Given the description of an element on the screen output the (x, y) to click on. 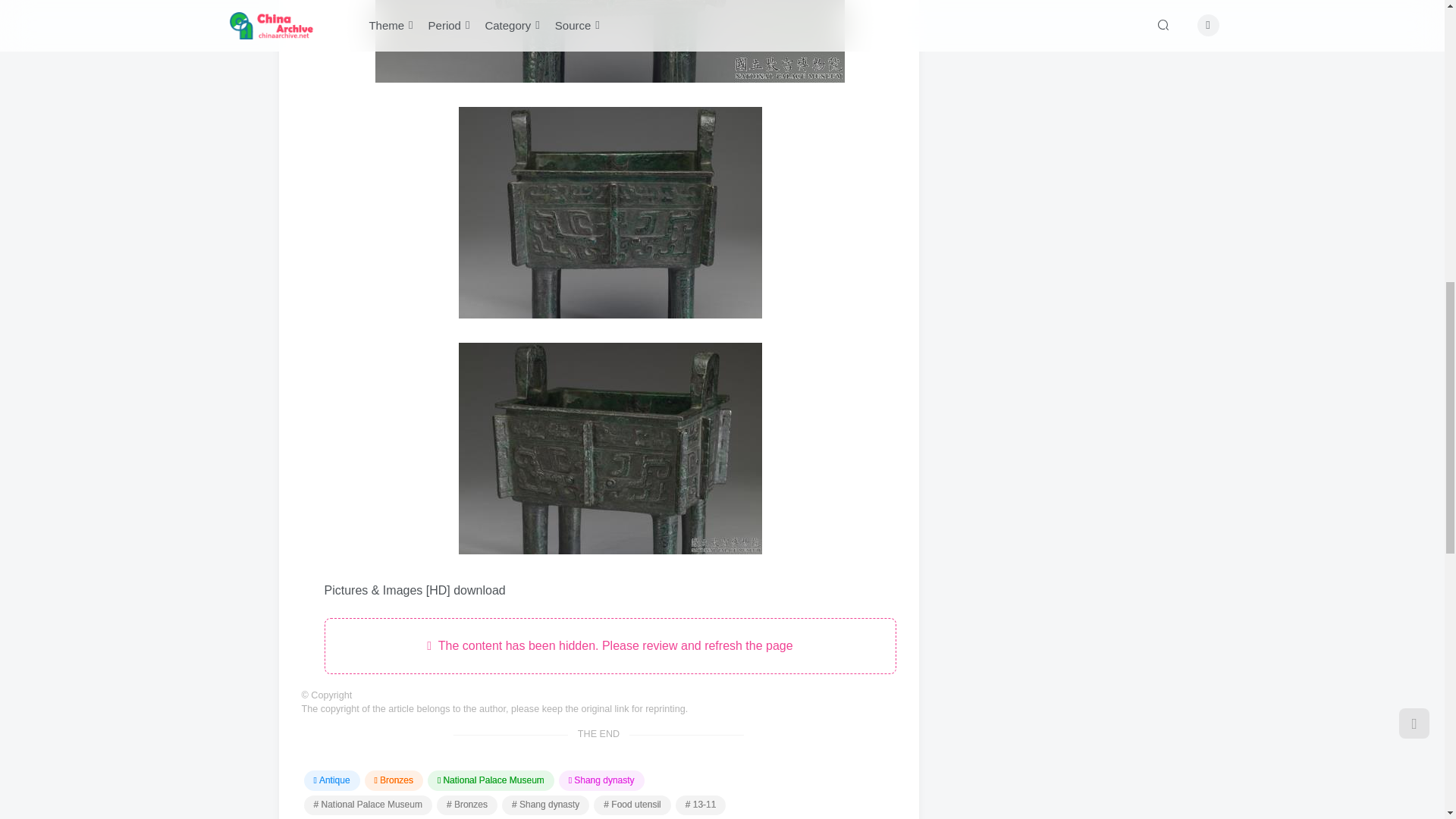
View more articles on this label (545, 804)
View more articles on this label (466, 804)
View more articles on this label (700, 804)
View more articles on this label (631, 804)
View more articles on this label (366, 804)
